Given the description of an element on the screen output the (x, y) to click on. 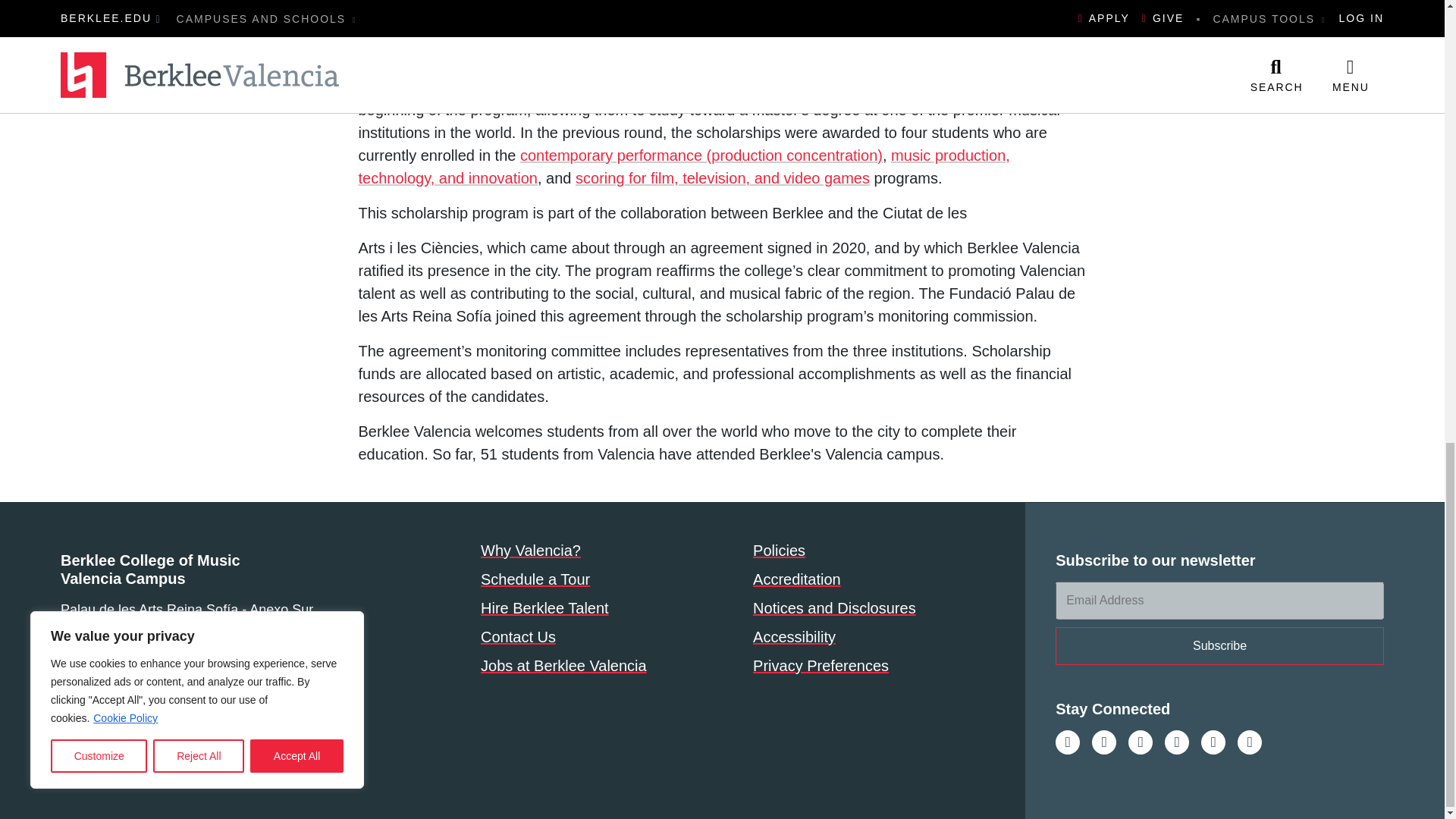
Subscribe (1219, 646)
